Given the description of an element on the screen output the (x, y) to click on. 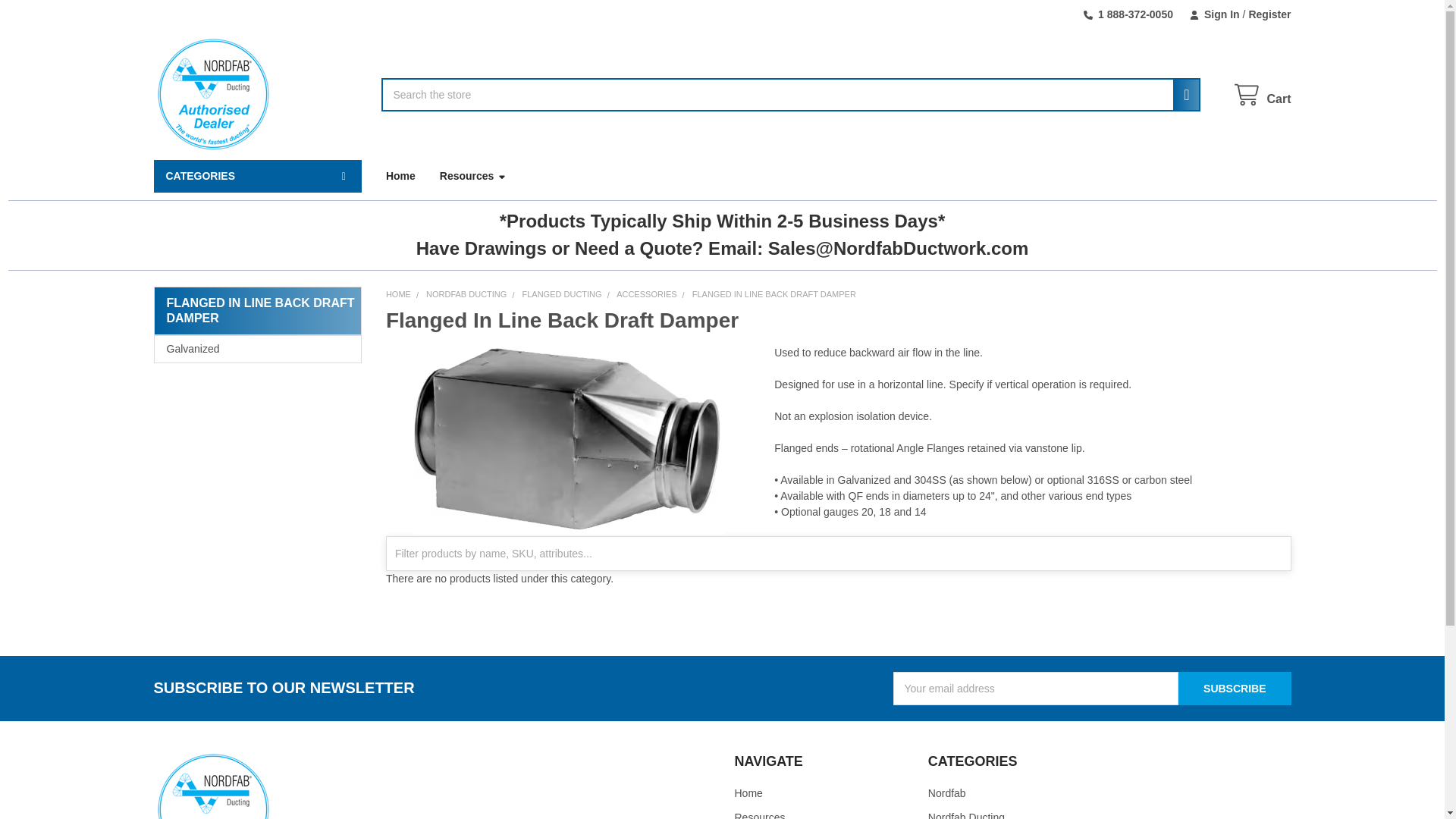
Search (1181, 94)
1 888-372-0050 (1127, 14)
CATEGORIES (256, 175)
Search (1181, 94)
Subscribe (1233, 688)
Nordfab Ductwork (211, 94)
Nordfab Ductwork (211, 785)
Galvanized (258, 349)
Register (1265, 14)
Sign In (1213, 14)
